Given the description of an element on the screen output the (x, y) to click on. 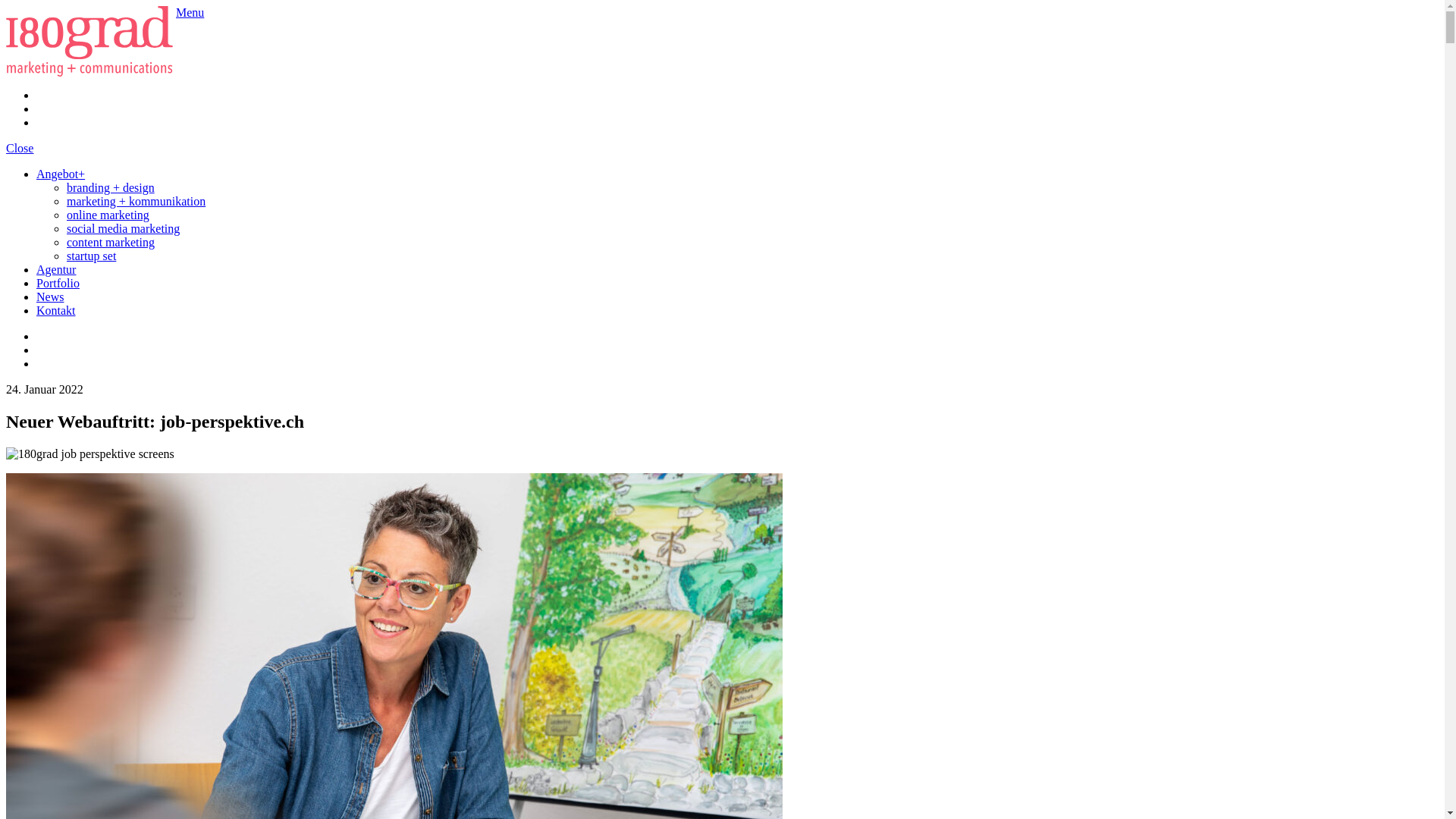
Neuer Webauftritt: job-perspektive.ch 7 Element type: hover (90, 454)
social media marketing Element type: text (122, 228)
Menu Element type: text (189, 12)
Angebot+ Element type: text (60, 173)
online marketing Element type: text (107, 214)
Agentur Element type: text (55, 269)
News Element type: text (49, 296)
marketing + kommunikation Element type: text (135, 200)
startup set Element type: text (91, 255)
Kontakt Element type: text (55, 310)
branding + design Element type: text (110, 187)
Close Element type: text (19, 147)
Portfolio Element type: text (57, 282)
content marketing Element type: text (110, 241)
